Given the description of an element on the screen output the (x, y) to click on. 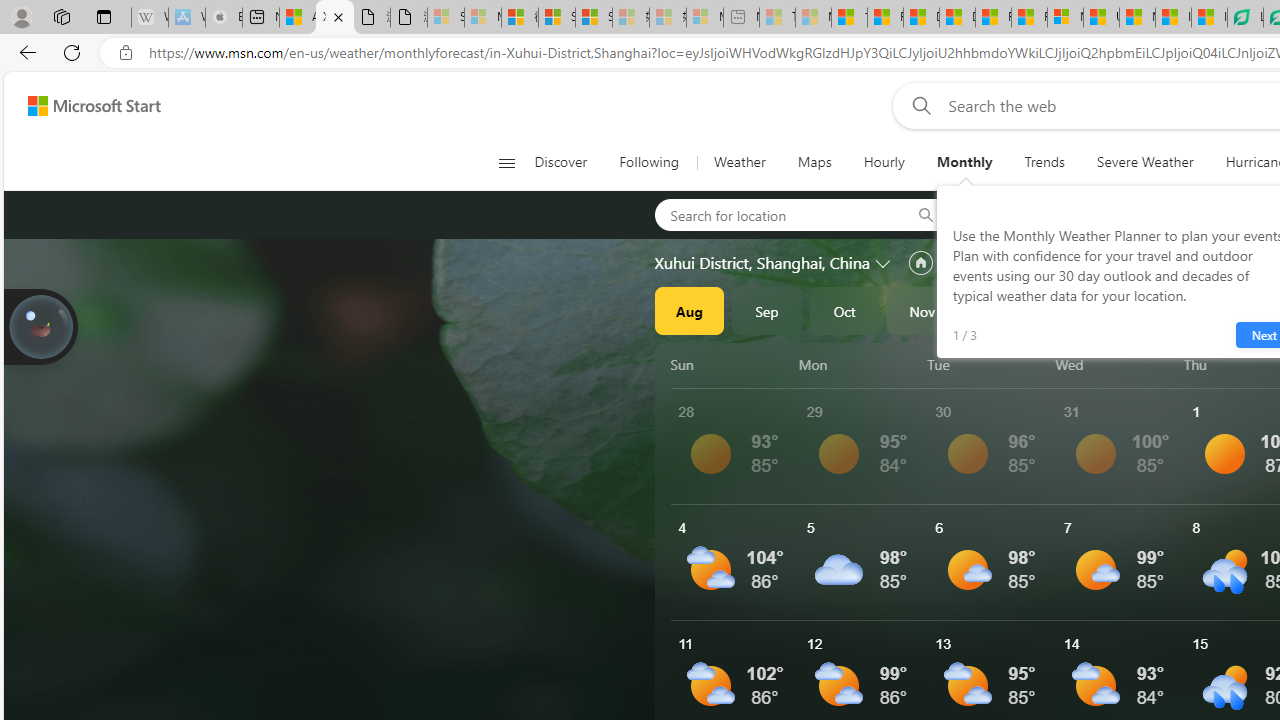
Severe Weather (1145, 162)
Severe Weather (1145, 162)
LendingTree - Compare Lenders (1245, 17)
Maps (814, 162)
Sep (767, 310)
Sep (767, 310)
Tue (987, 363)
